Given the description of an element on the screen output the (x, y) to click on. 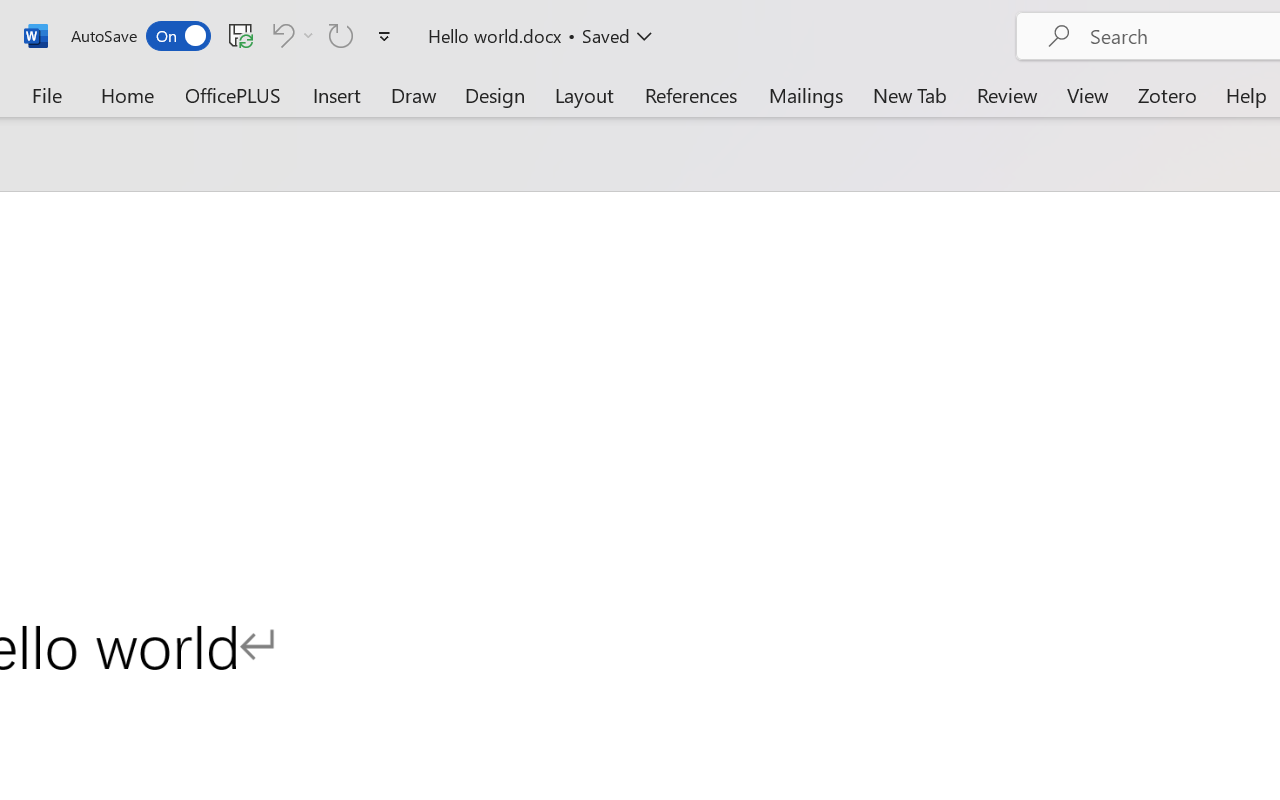
References (690, 94)
Save (241, 35)
Draw (413, 94)
Can't Repeat (341, 35)
New Tab (909, 94)
Can't Undo (280, 35)
Mailings (806, 94)
